Given the description of an element on the screen output the (x, y) to click on. 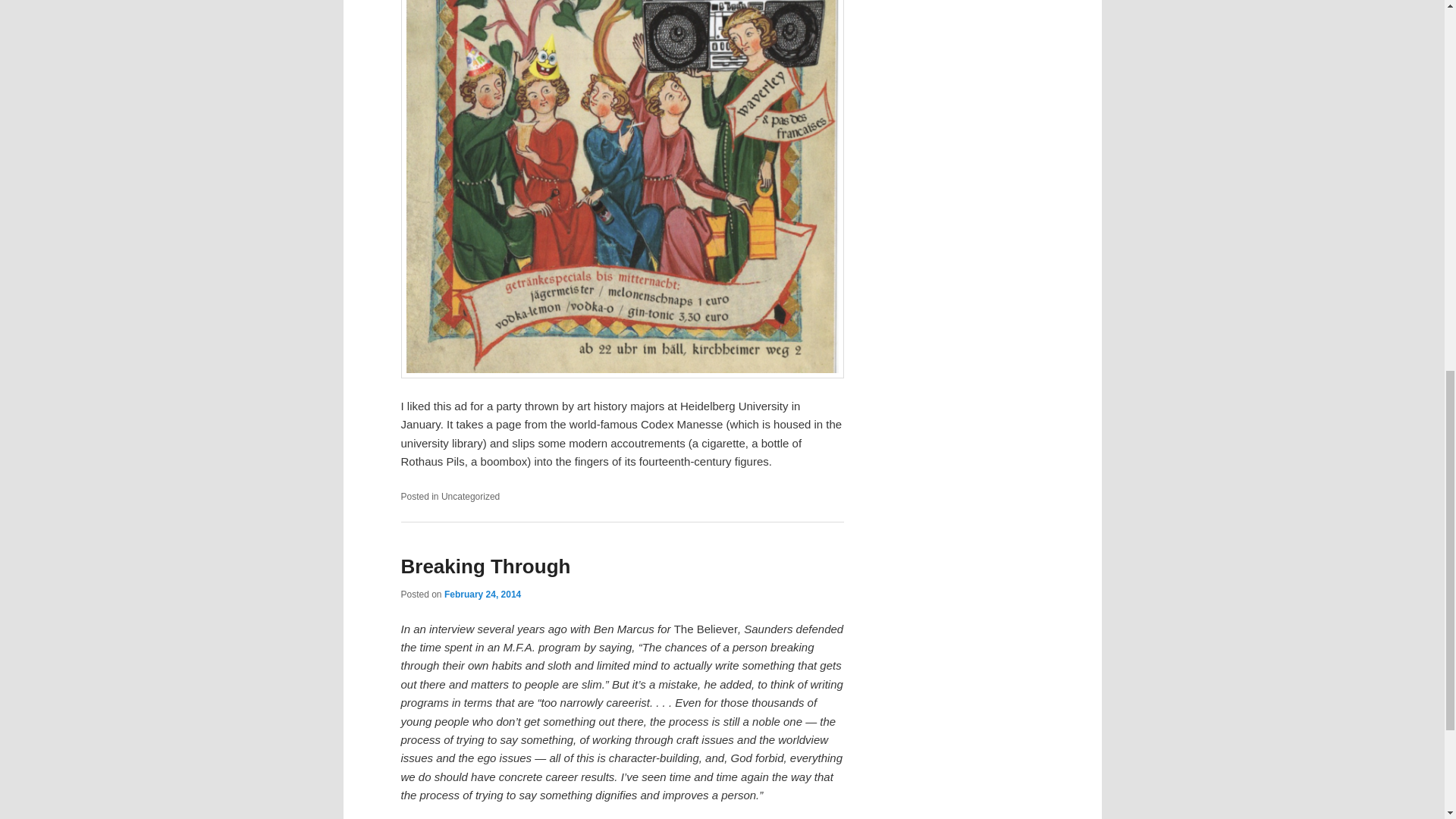
6:32 pm (482, 593)
Breaking Through (485, 566)
February 24, 2014 (482, 593)
